Given the description of an element on the screen output the (x, y) to click on. 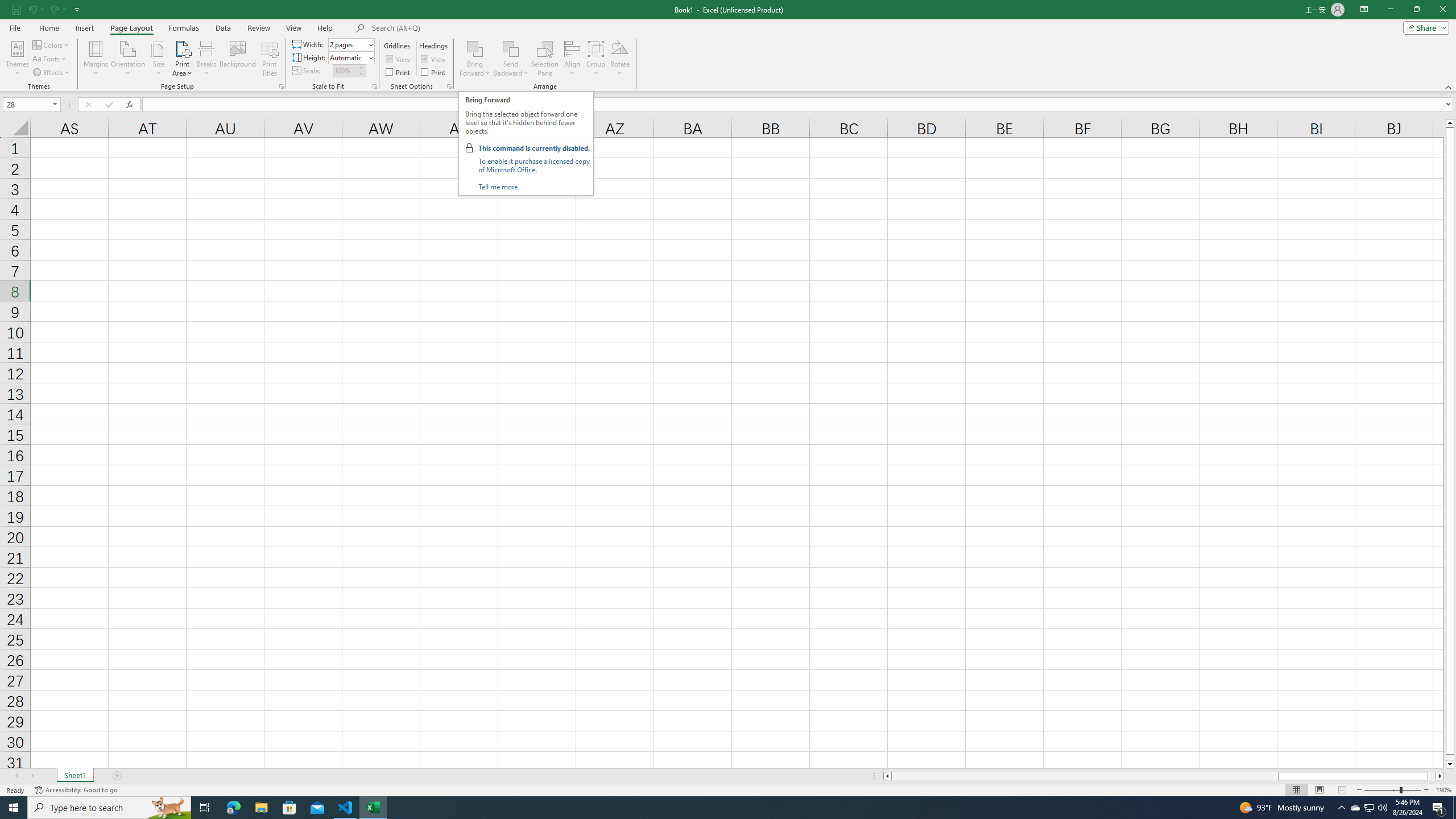
Print Area (182, 58)
Breaks (206, 58)
Send Backward (510, 48)
